Given the description of an element on the screen output the (x, y) to click on. 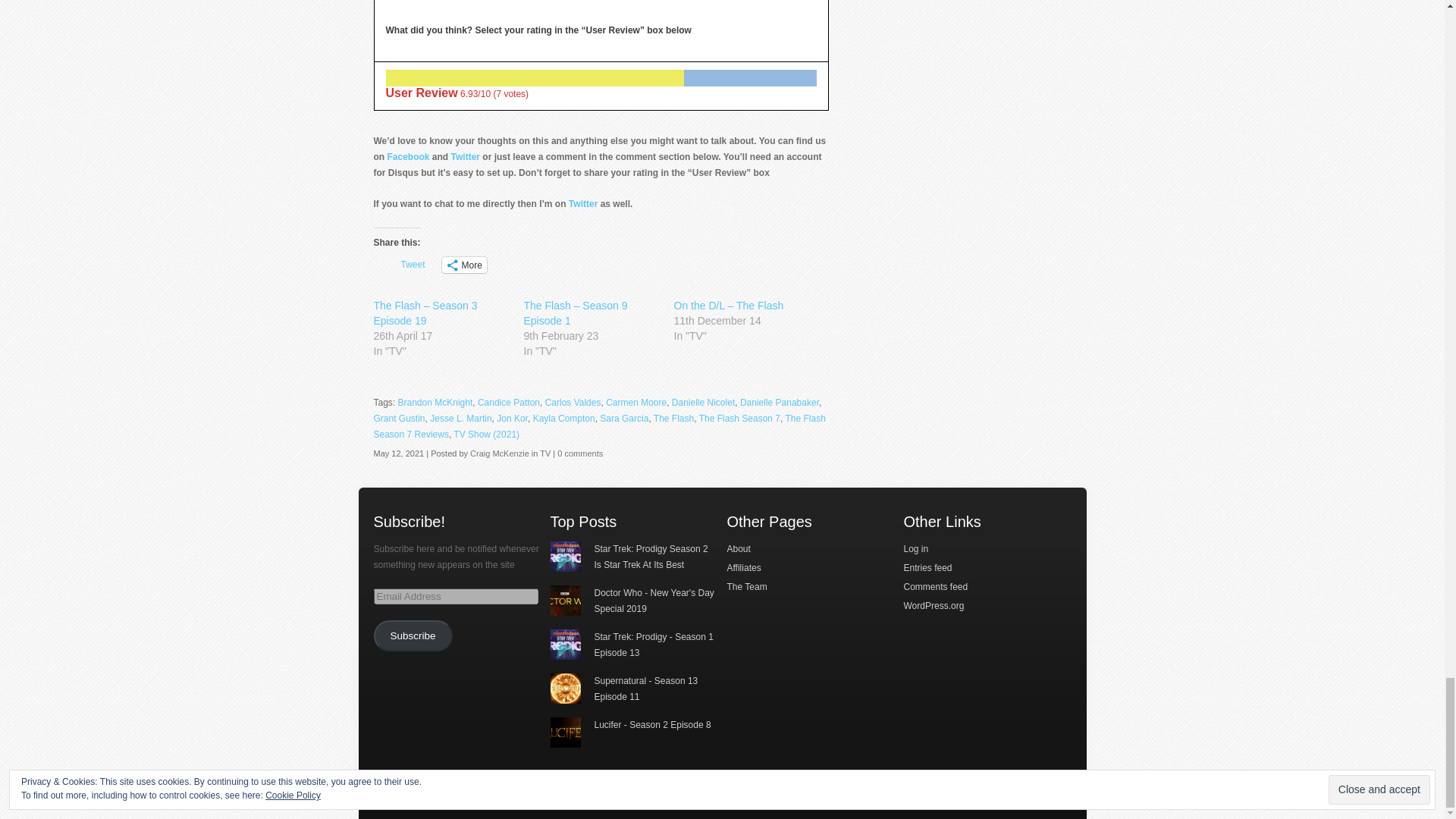
Posts by Craig McKenzie (499, 452)
